Given the description of an element on the screen output the (x, y) to click on. 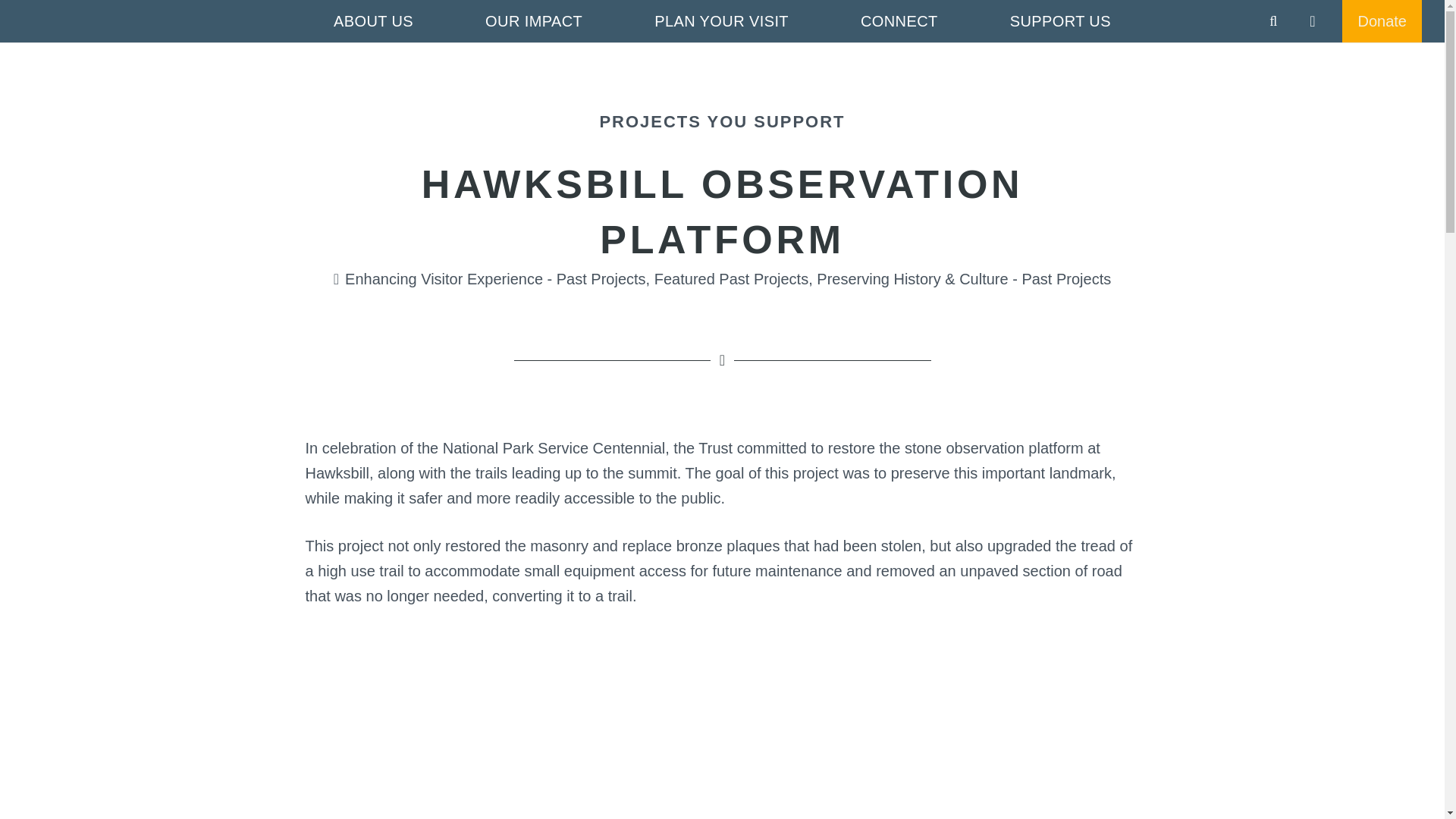
PLAN YOUR VISIT (721, 21)
OUR IMPACT (533, 21)
ABOUT US (373, 21)
SUPPORT US (1060, 21)
CONNECT (898, 21)
